Given the description of an element on the screen output the (x, y) to click on. 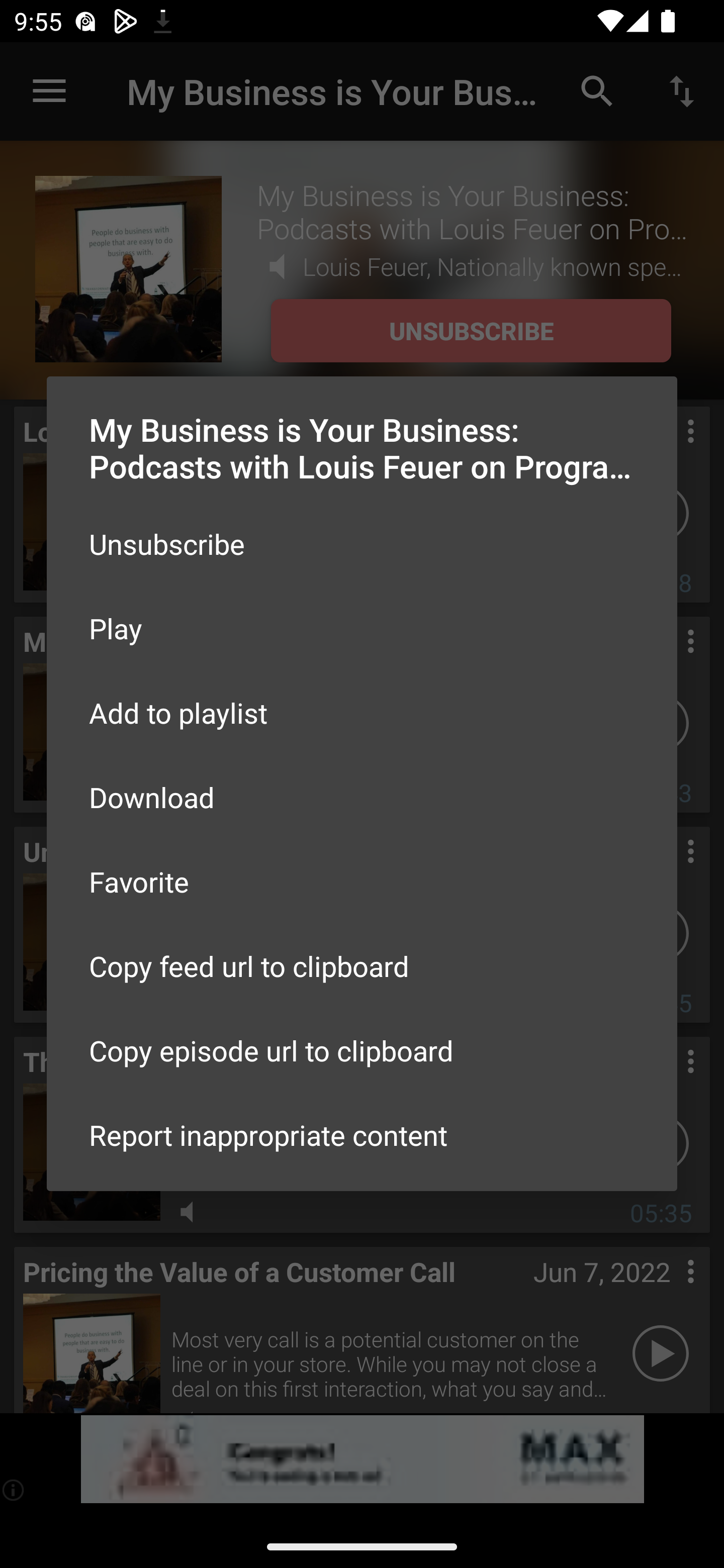
Unsubscribe (361, 543)
Play (361, 628)
Add to playlist (361, 712)
Download (361, 796)
Favorite (361, 880)
Copy feed url to clipboard (361, 965)
Copy episode url to clipboard (361, 1050)
Report inappropriate content (361, 1134)
